Given the description of an element on the screen output the (x, y) to click on. 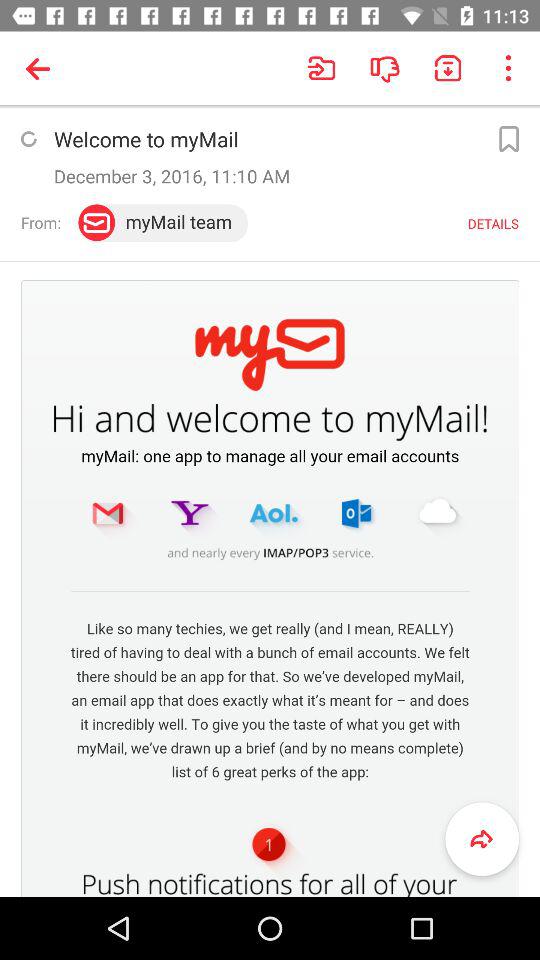
forward mail (482, 839)
